Given the description of an element on the screen output the (x, y) to click on. 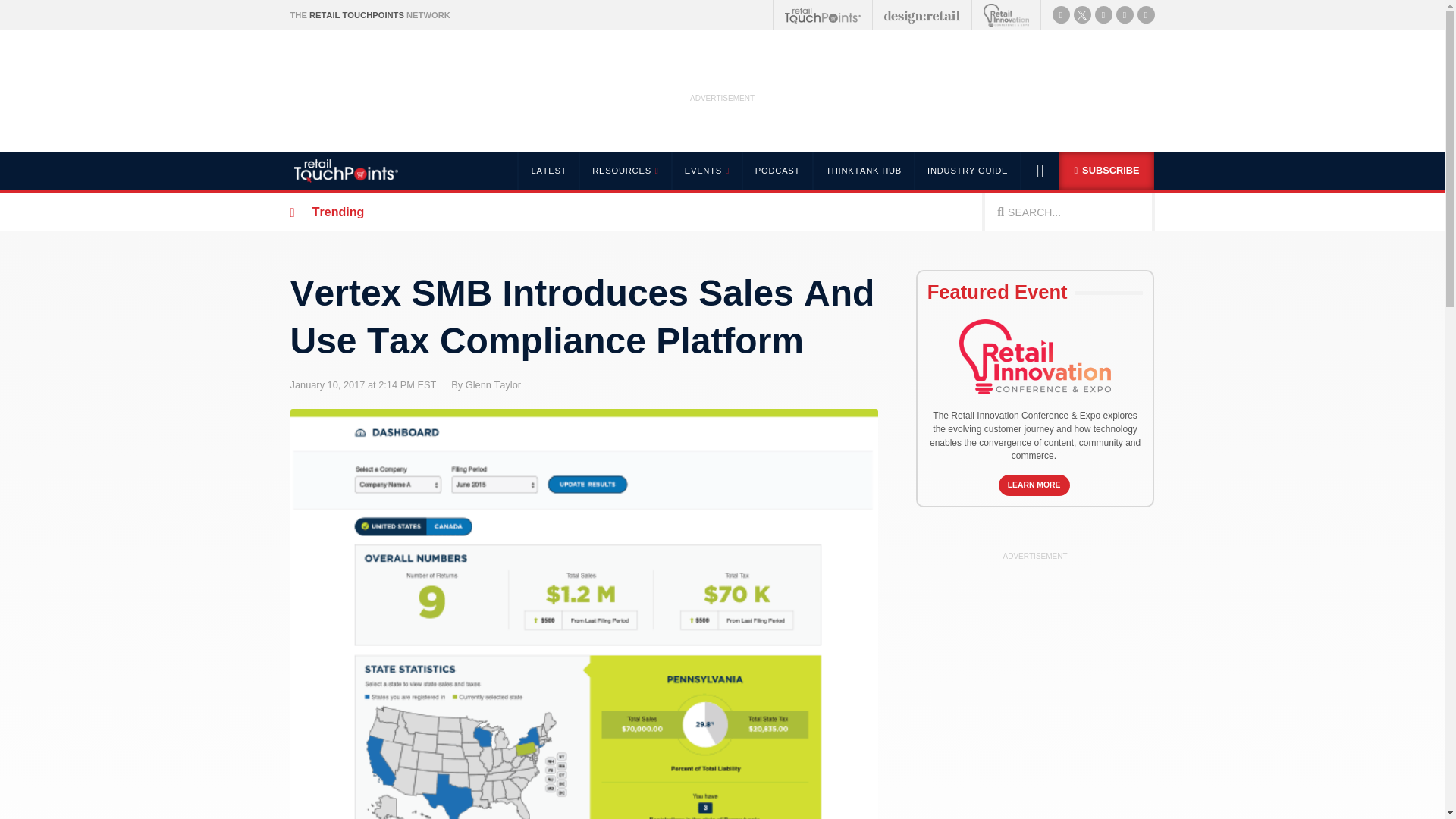
INDUSTRY GUIDE (968, 170)
LATEST (547, 170)
PODCAST (776, 170)
EVENTS (706, 170)
THINKTANK HUB (863, 170)
RESOURCES (623, 170)
